Given the description of an element on the screen output the (x, y) to click on. 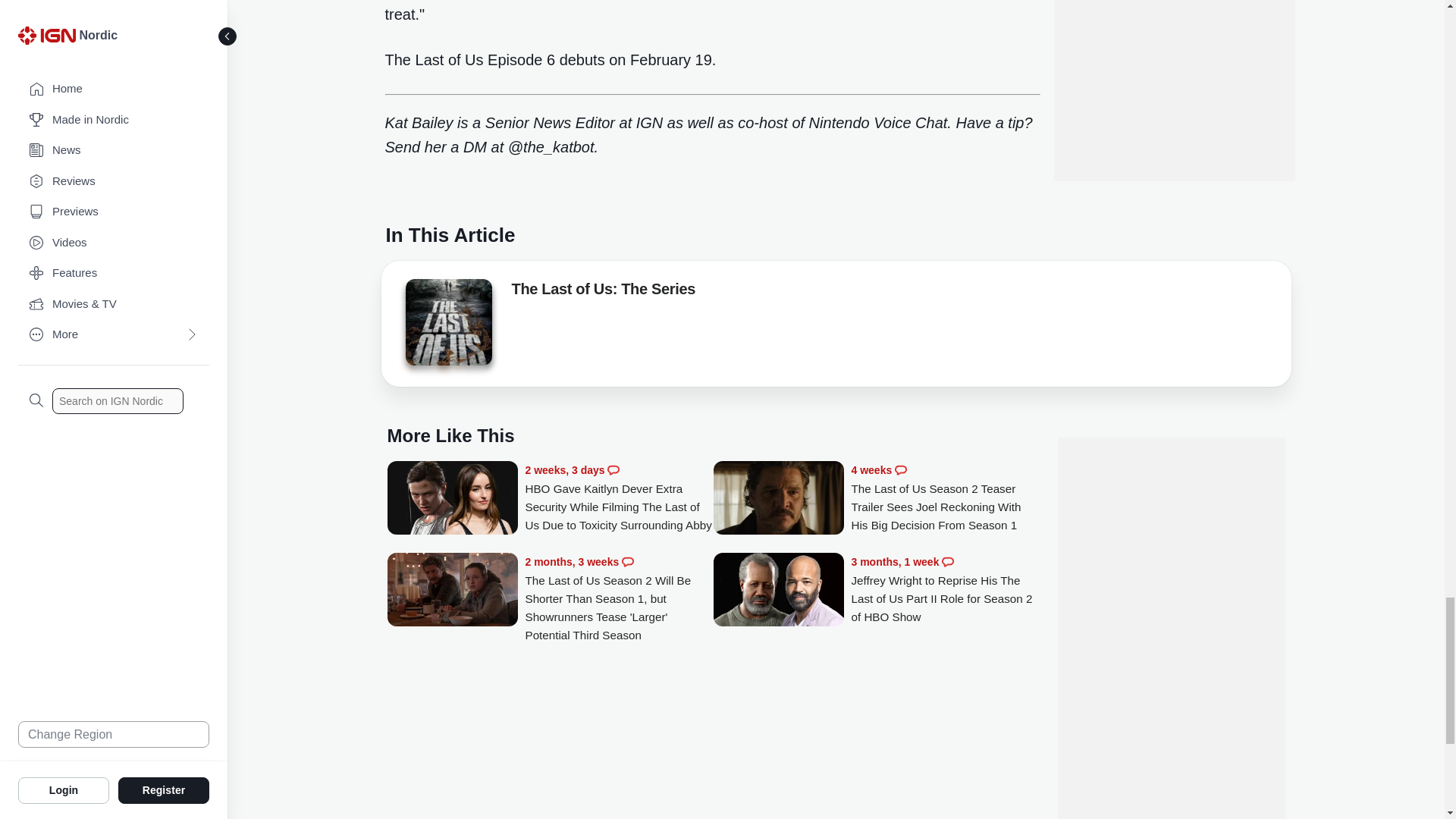
Comments (901, 469)
The Last of Us: The Series (448, 326)
Comments (627, 562)
The Last of Us: The Series (448, 322)
The Last of Us: The Series (603, 291)
